Given the description of an element on the screen output the (x, y) to click on. 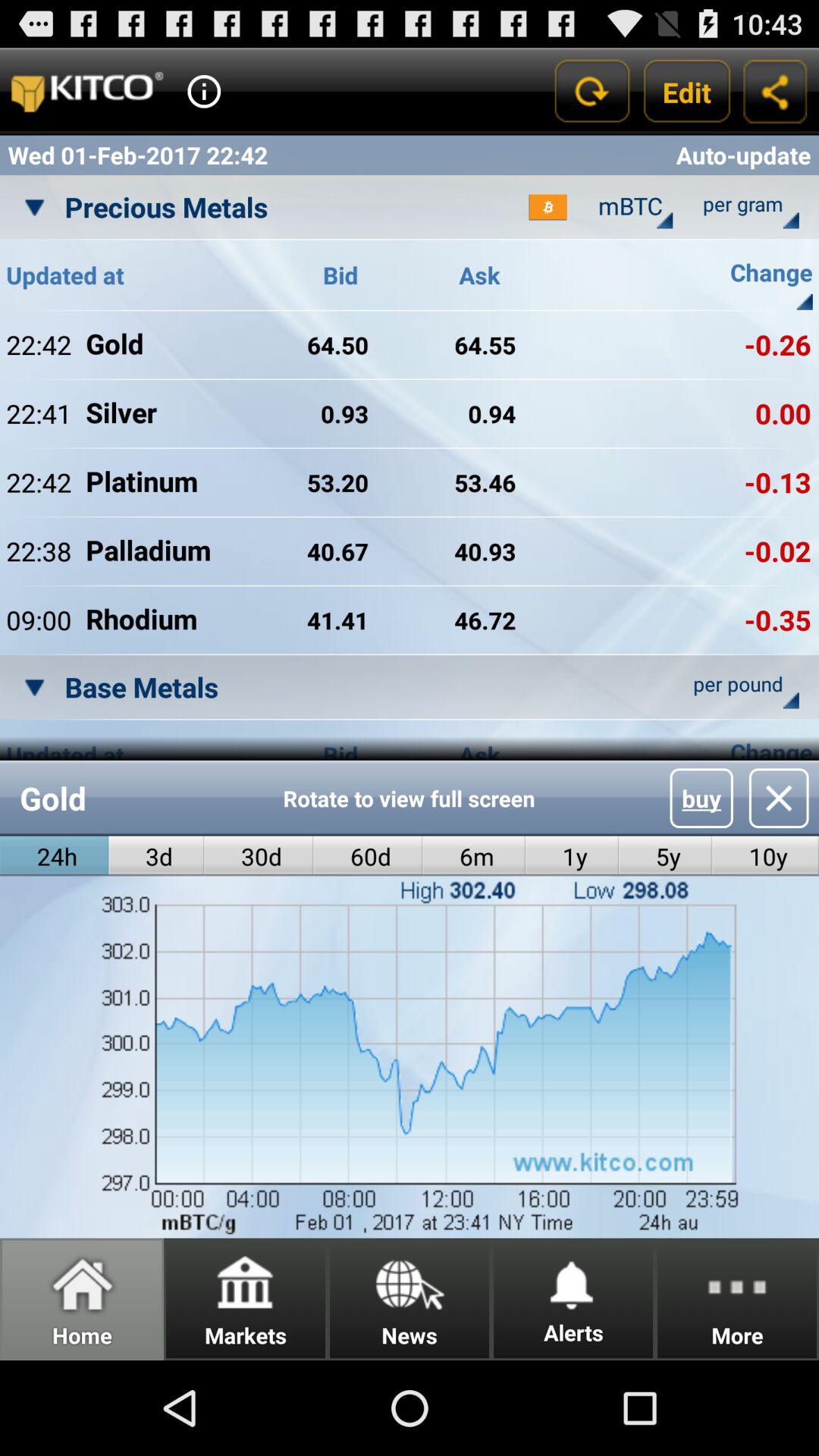
turn off the radio button to the right of 60d radio button (473, 856)
